Given the description of an element on the screen output the (x, y) to click on. 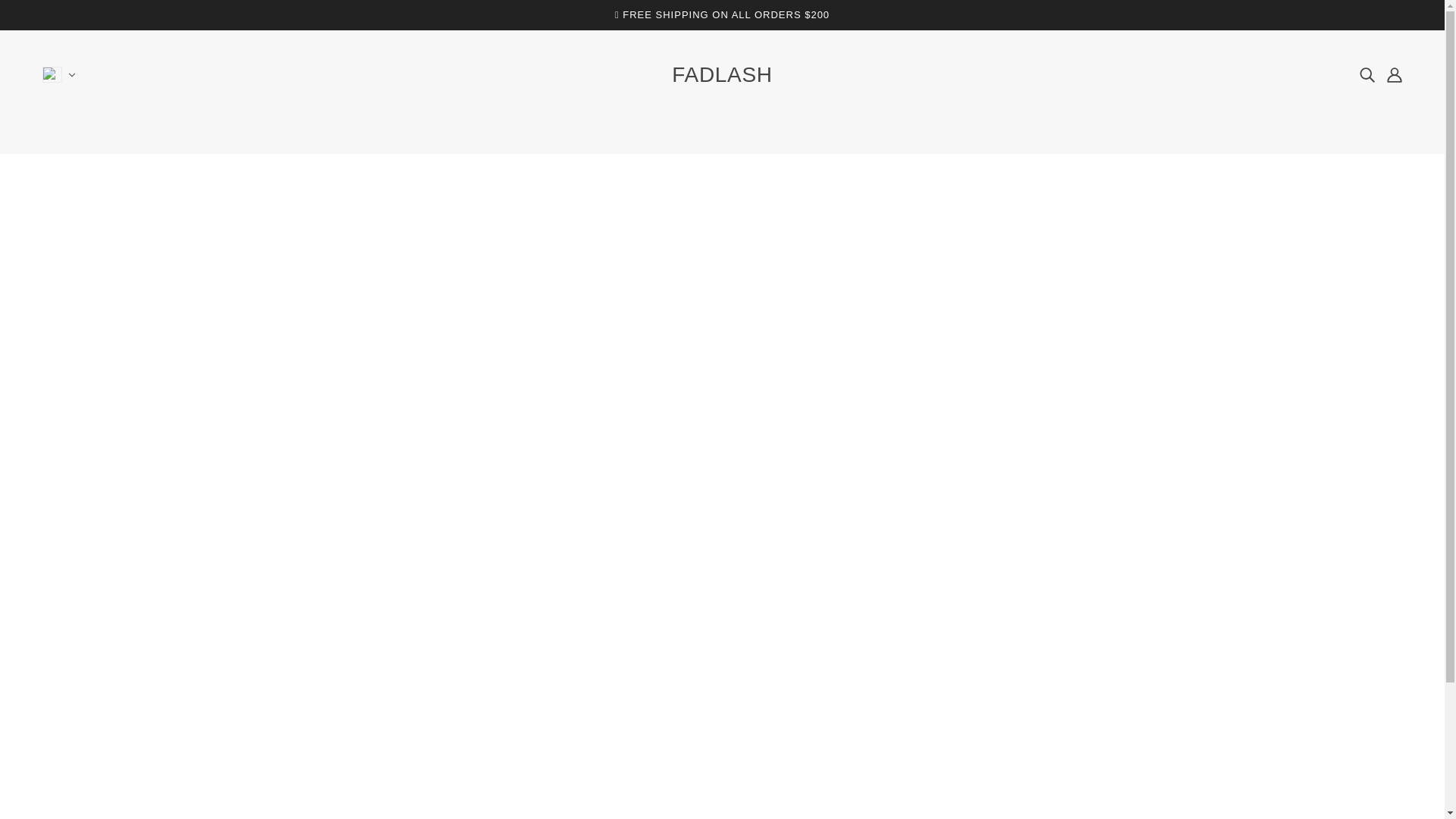
Fadlash (722, 74)
